Given the description of an element on the screen output the (x, y) to click on. 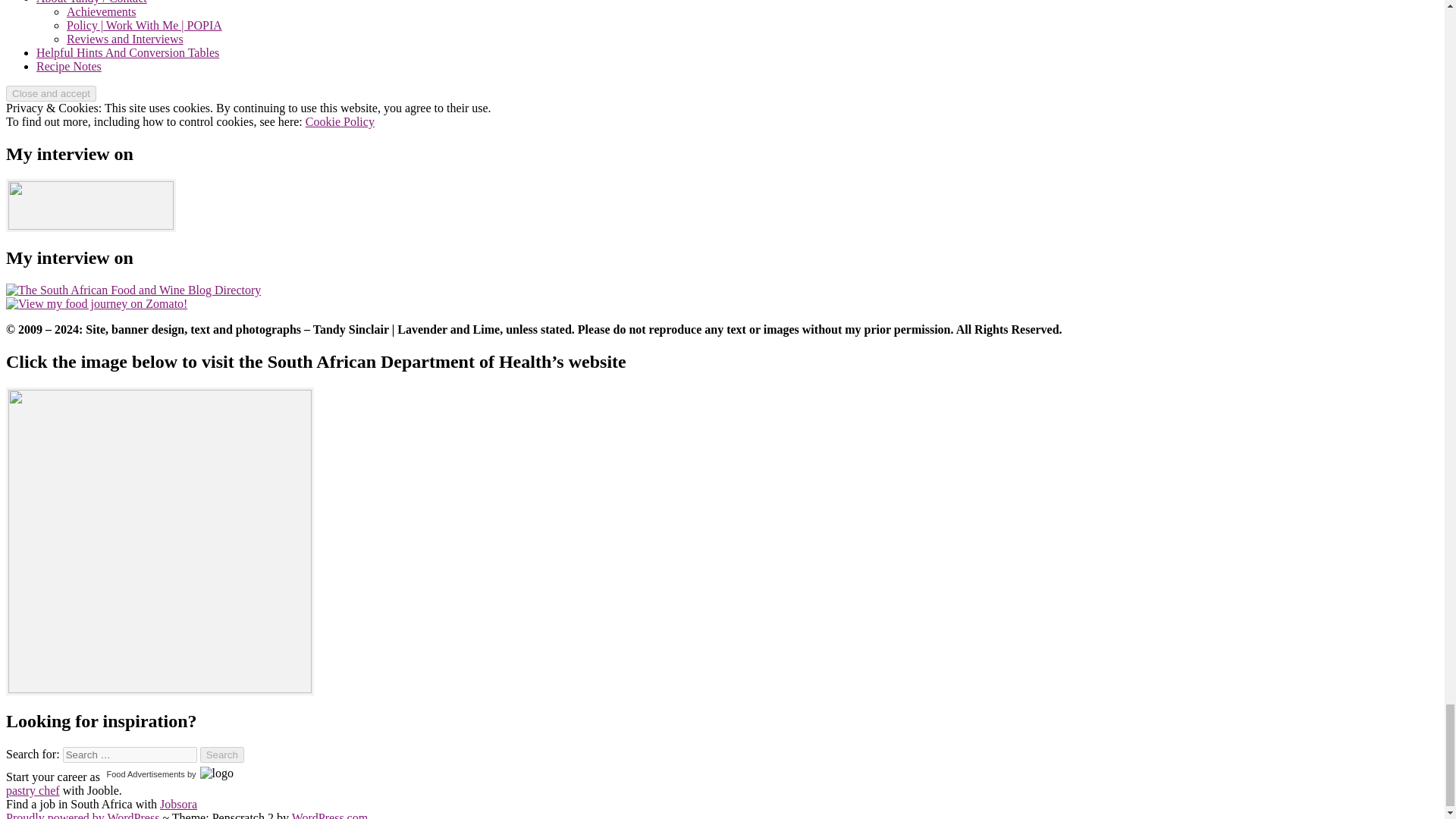
Search (222, 754)
Close and accept (50, 93)
Search (222, 754)
